Given the description of an element on the screen output the (x, y) to click on. 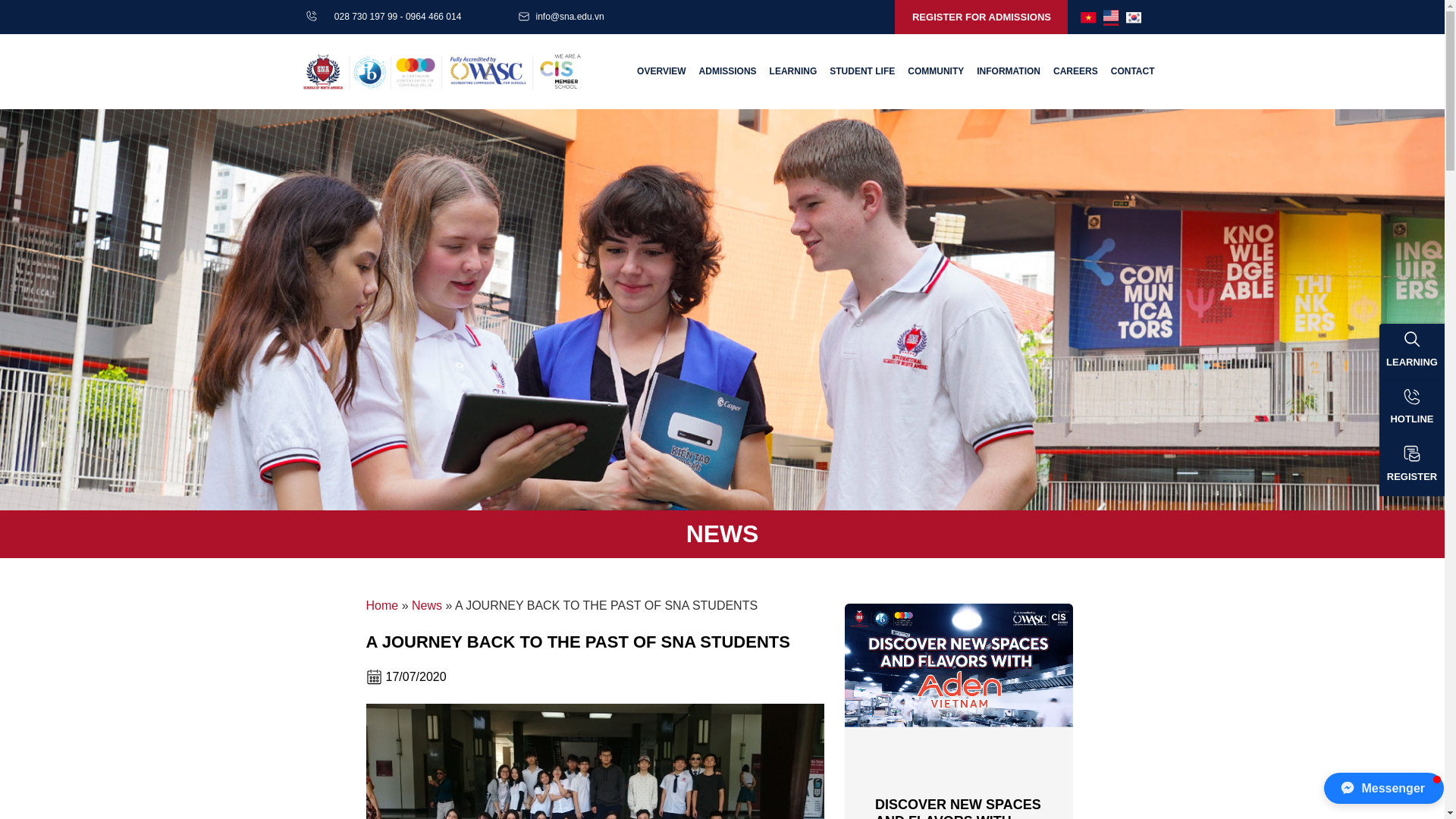
028 730 197 99 - 0964 466 014 (397, 16)
ADMISSIONS (727, 71)
STUDENT LIFE (862, 71)
OVERVIEW (661, 71)
LEARNING (793, 71)
REGISTER FOR ADMISSIONS (981, 16)
